Given the description of an element on the screen output the (x, y) to click on. 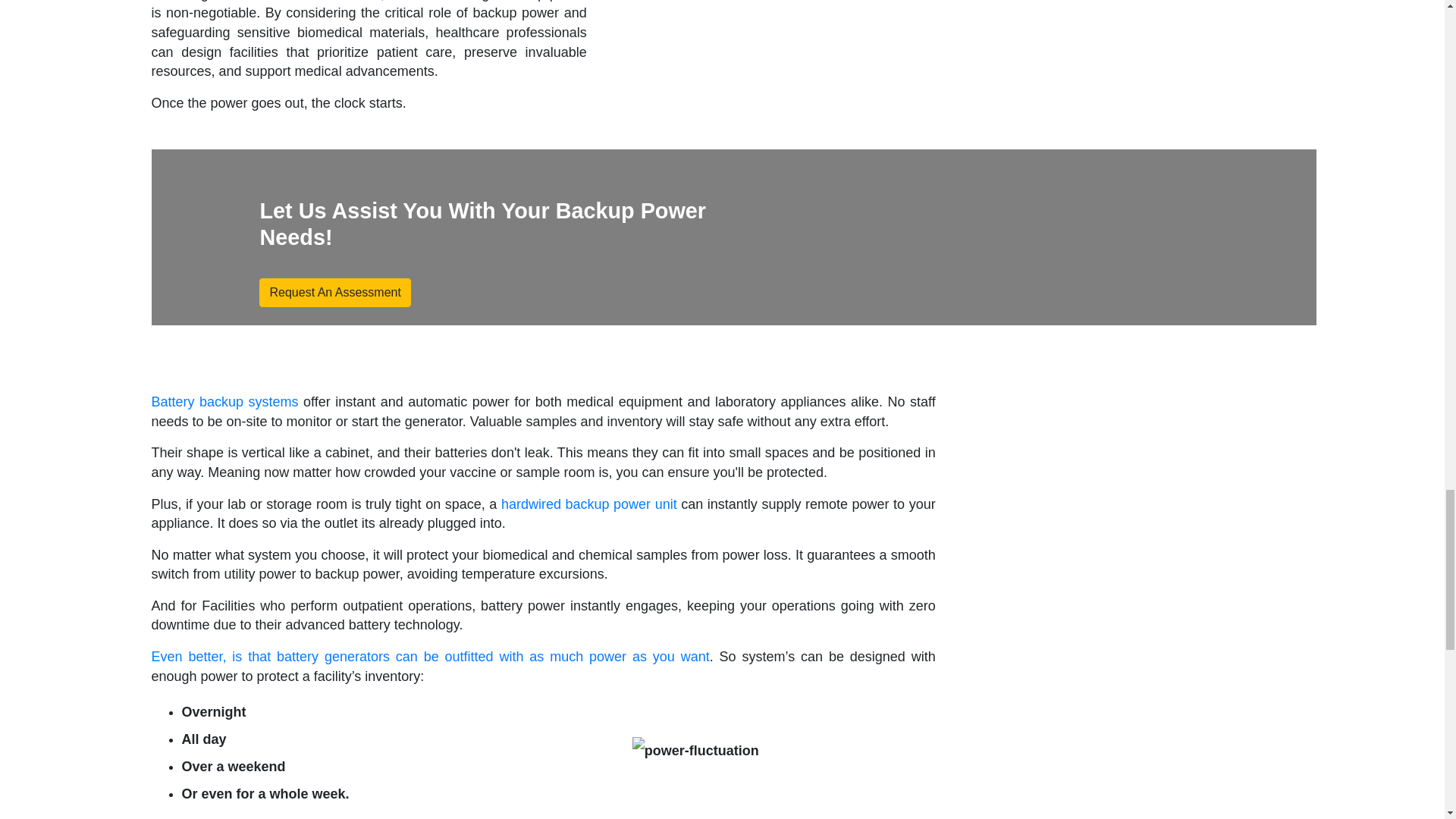
hardwired backup power unit (588, 503)
Request An Assessment (334, 292)
Battery backup systems (224, 401)
